Given the description of an element on the screen output the (x, y) to click on. 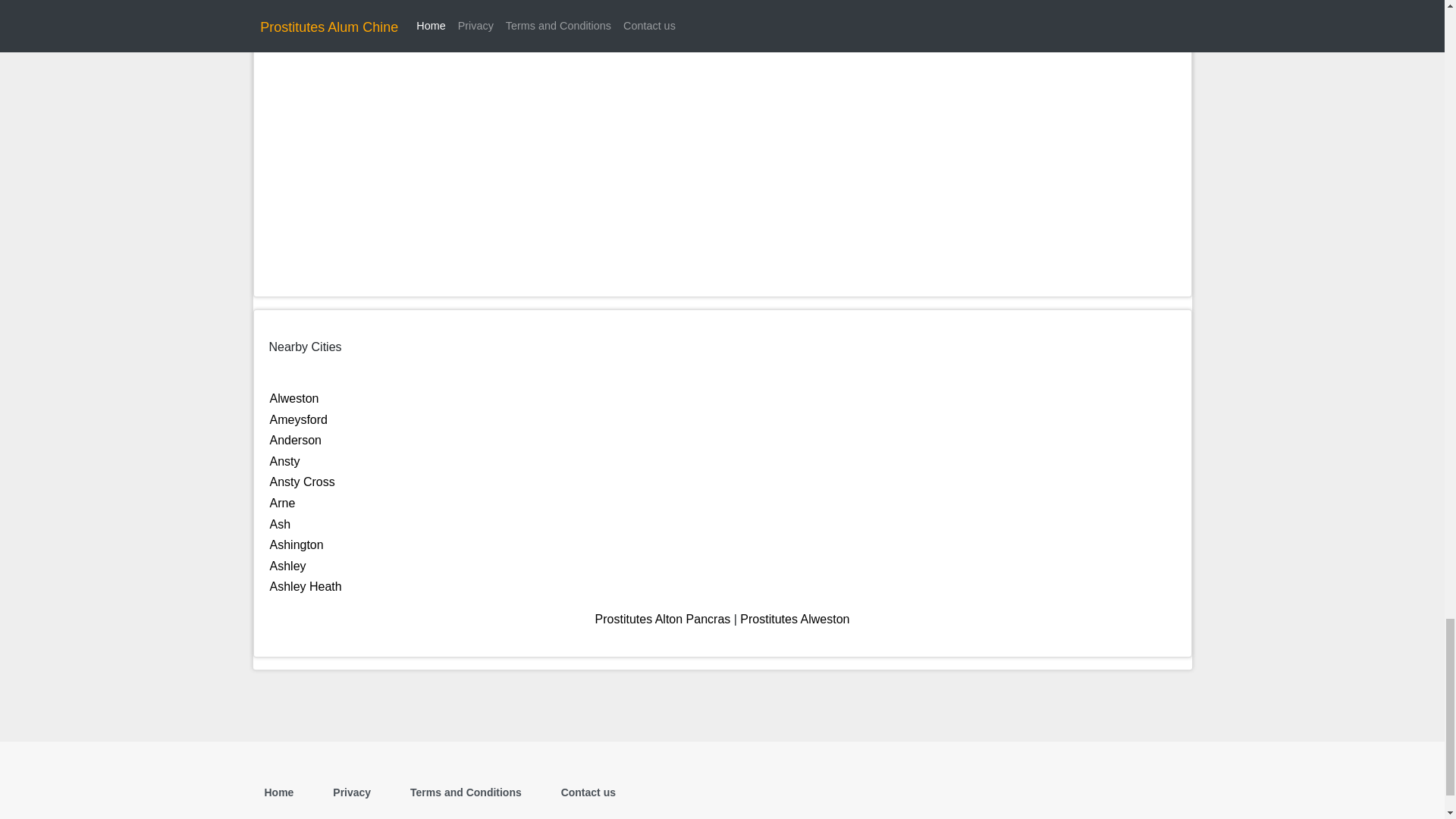
Ameysford (298, 419)
Prostitutes Alton Pancras (662, 618)
Ashley Heath (305, 585)
Anderson (295, 440)
Arne (282, 502)
Prostitutes Alweston (793, 618)
Ansty Cross (301, 481)
Ashington (296, 544)
Ansty (284, 461)
Alweston (293, 398)
